Given the description of an element on the screen output the (x, y) to click on. 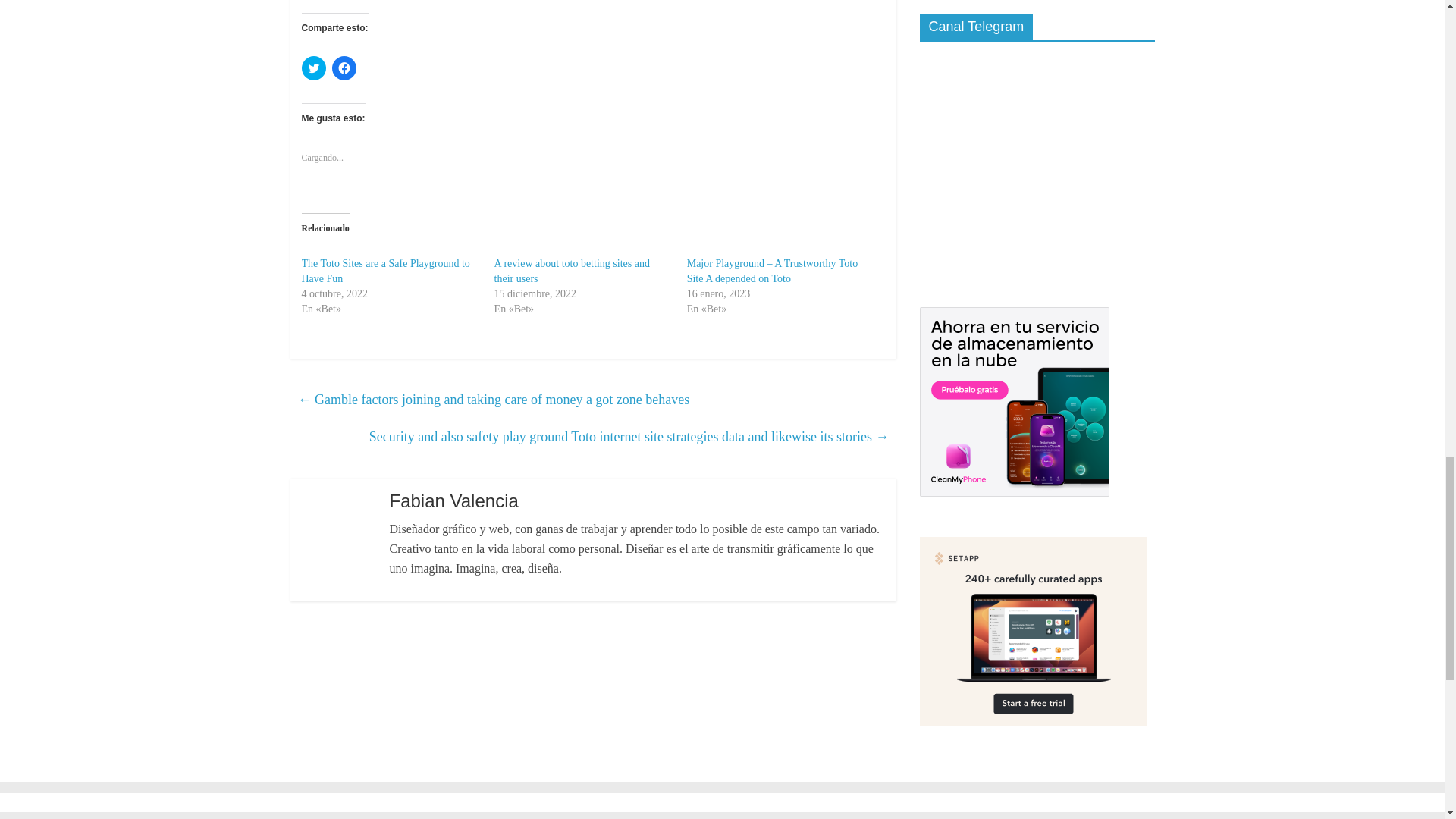
The Toto Sites are a Safe Playground to Have Fun (385, 270)
A review about toto betting sites and their users (572, 270)
Haz clic para compartir en Twitter (313, 68)
The Toto Sites are a Safe Playground to Have Fun (385, 270)
Haz clic para compartir en Facebook (343, 68)
A review about toto betting sites and their users (572, 270)
